Given the description of an element on the screen output the (x, y) to click on. 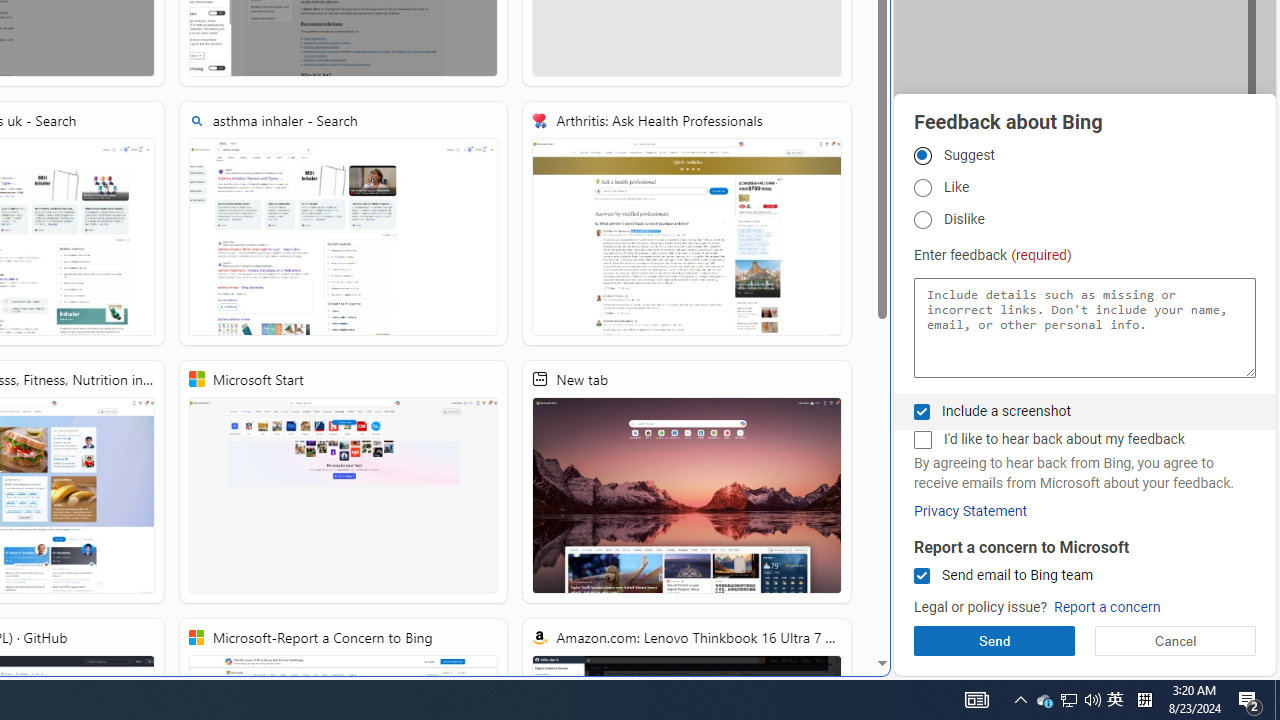
asthma inhaler - Search (343, 223)
Send (994, 640)
Send email to Bing team (921, 575)
Suggest (922, 155)
Like (922, 188)
Include a screenshot (921, 411)
Cancel (1174, 640)
Privacy Statement (970, 511)
Report a concern (1106, 607)
